Given the description of an element on the screen output the (x, y) to click on. 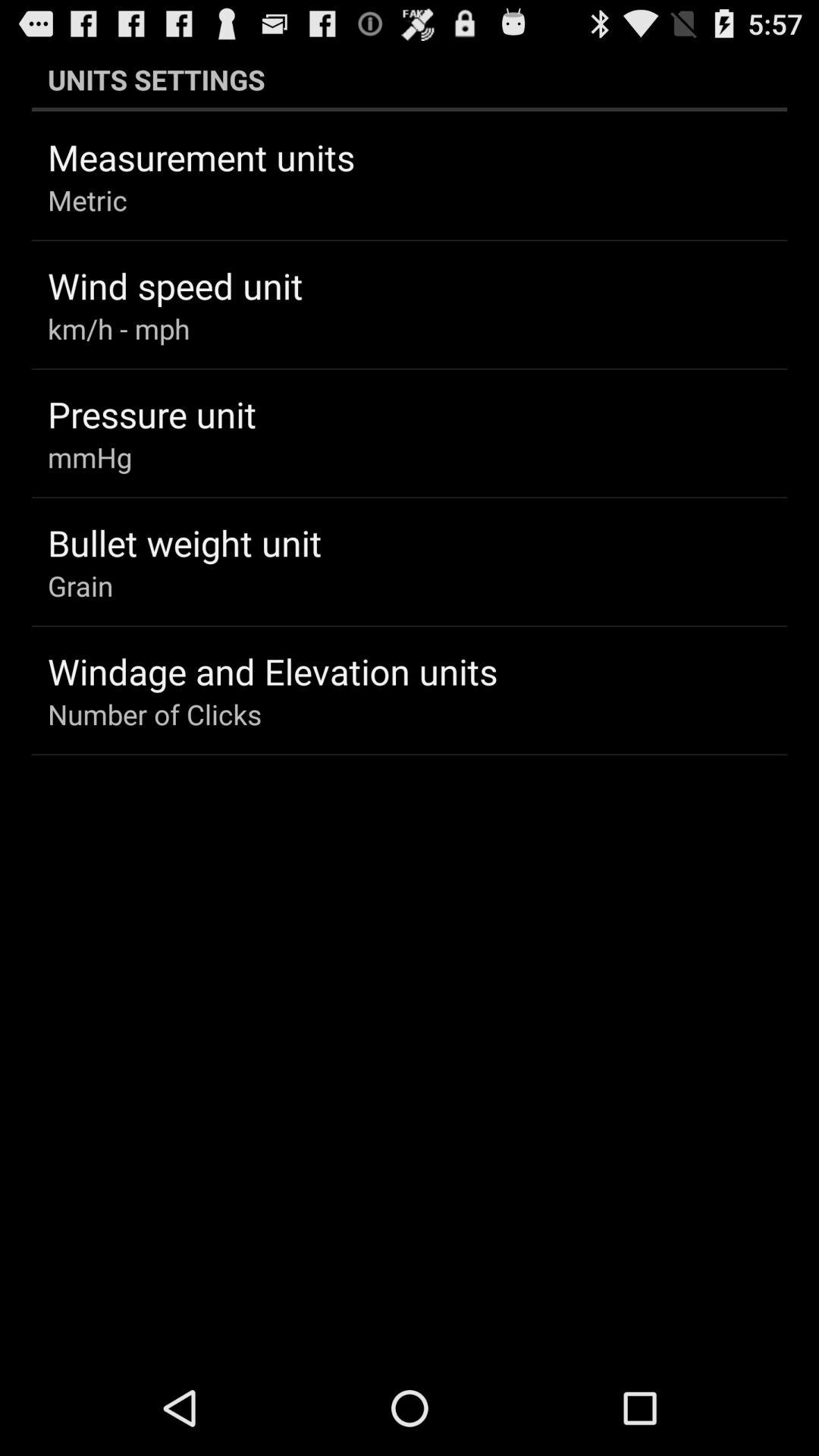
turn on the item below the km/h - mph icon (151, 414)
